Given the description of an element on the screen output the (x, y) to click on. 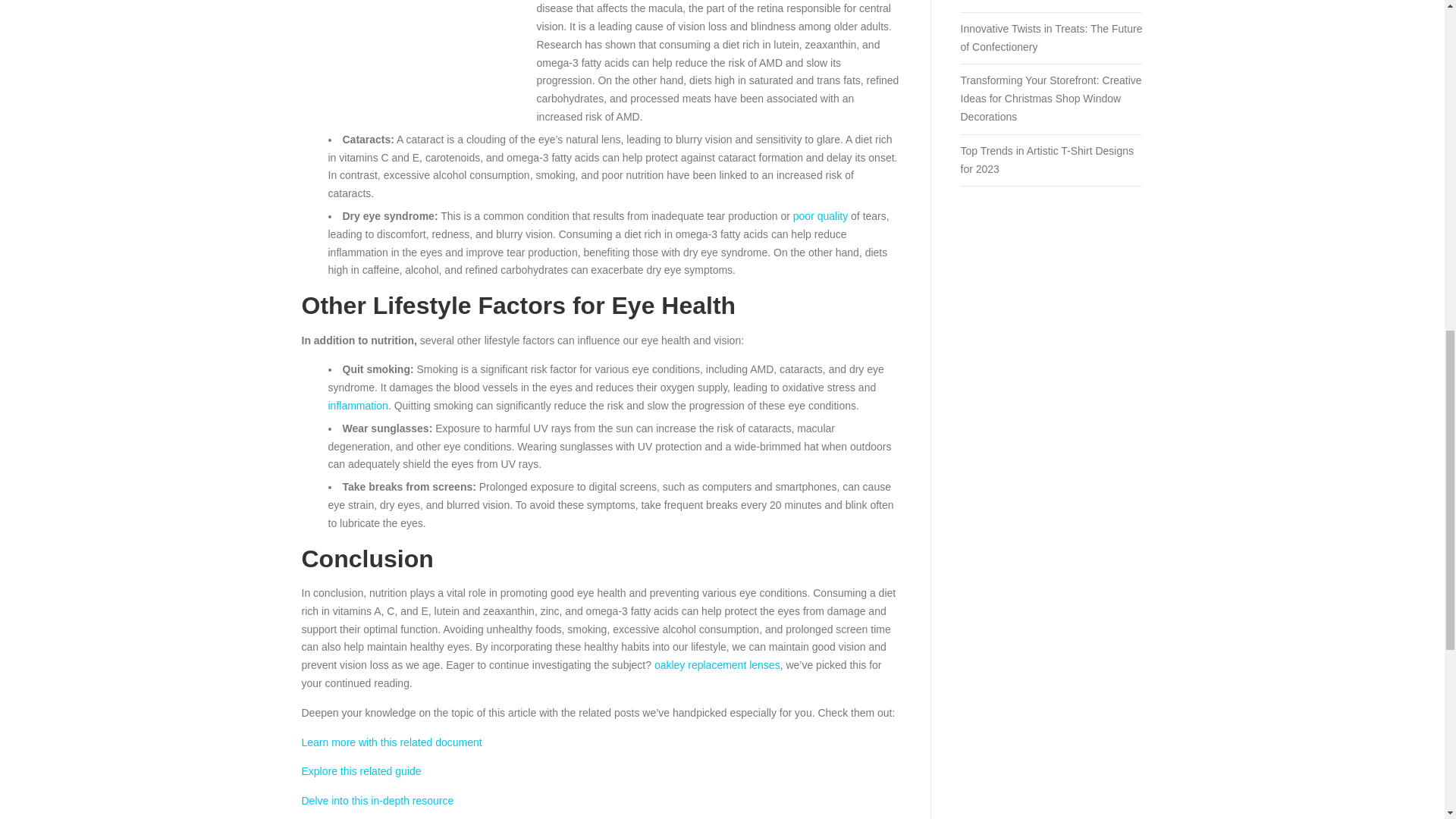
poor quality (820, 215)
Innovative Twists in Treats: The Future of Confectionery (1050, 37)
Delve into this in-depth resource (377, 800)
Top Trends in Artistic T-Shirt Designs for 2023 (1046, 159)
inflammation (357, 405)
oakley replacement lenses (716, 664)
Explore this related guide (361, 770)
Learn more with this related document (391, 742)
